Given the description of an element on the screen output the (x, y) to click on. 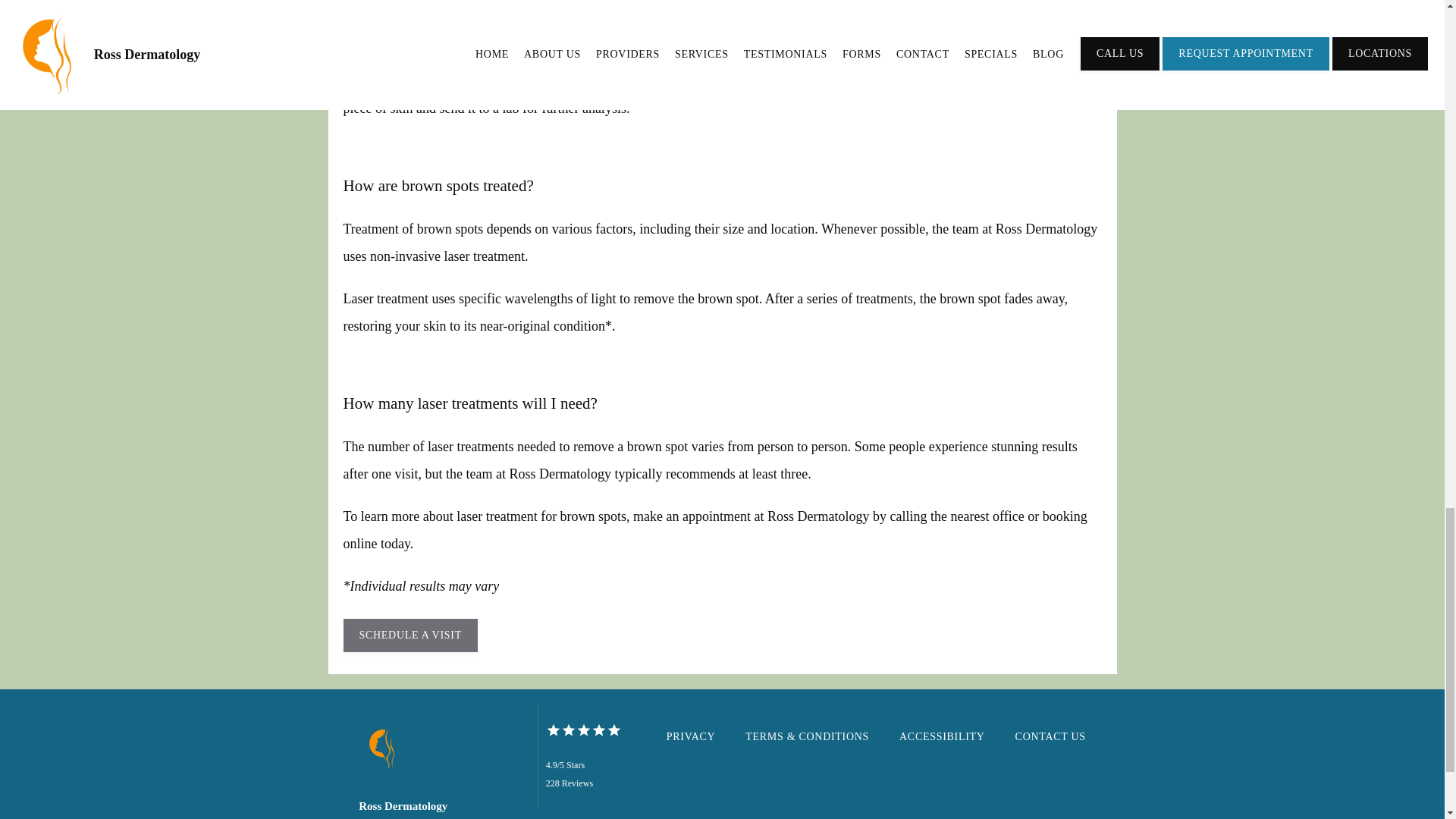
PRIVACY (691, 736)
ACCESSIBILITY (942, 736)
SCHEDULE A VISIT (411, 637)
